Given the description of an element on the screen output the (x, y) to click on. 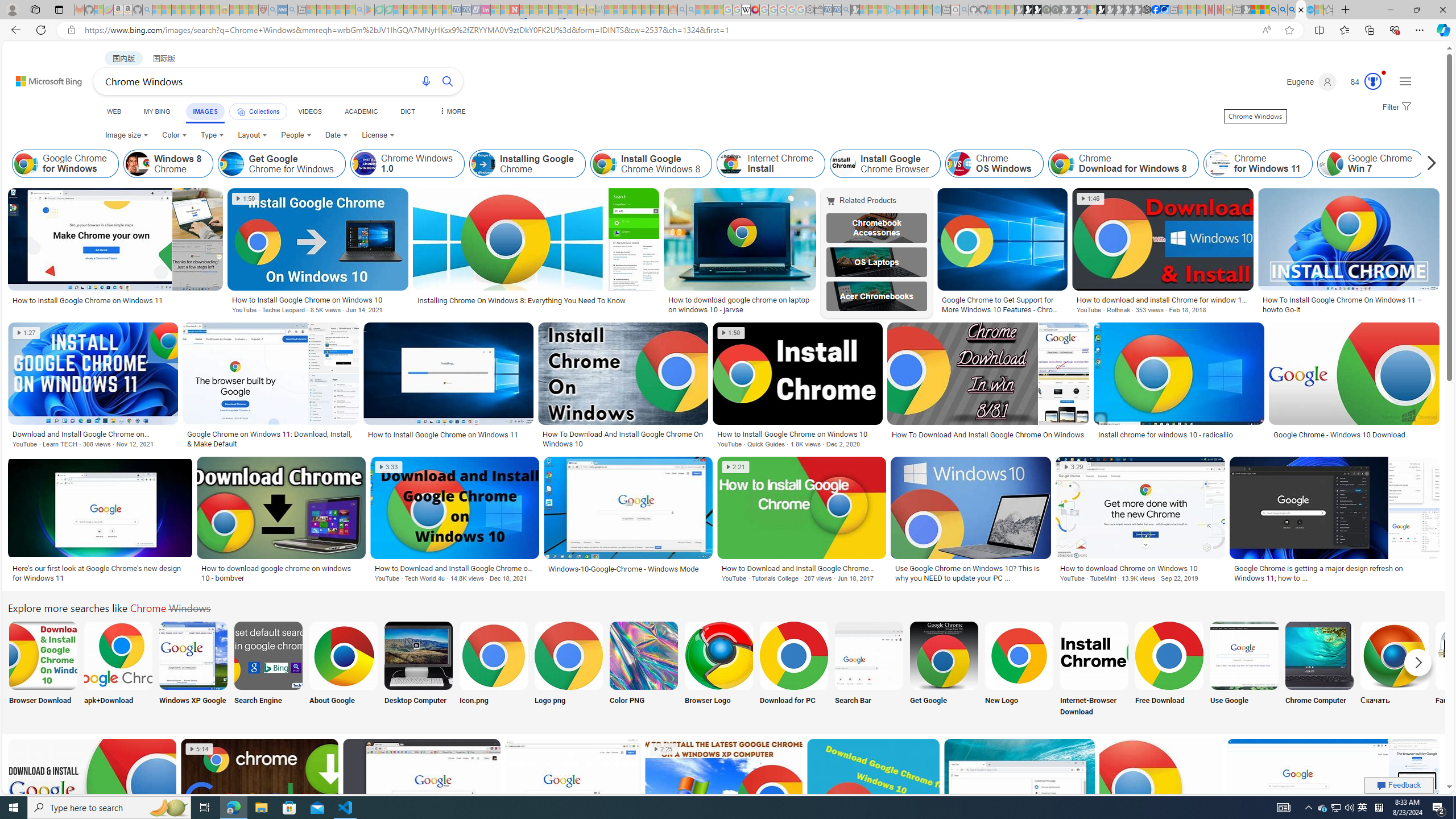
IMAGES (205, 111)
list of asthma inhalers uk - Search - Sleeping (272, 9)
Internet Chrome Install (731, 163)
New tab - Sleeping (1236, 9)
MY BING (156, 111)
Chrome Internet Browser Download Internet-Browser Download (1093, 669)
Google Chrome - Windows 10 Download (1354, 434)
Windows-10-Google-Chrome - Windows Mode (627, 568)
Latest Google Chrome Free Download (1441, 163)
